Given the description of an element on the screen output the (x, y) to click on. 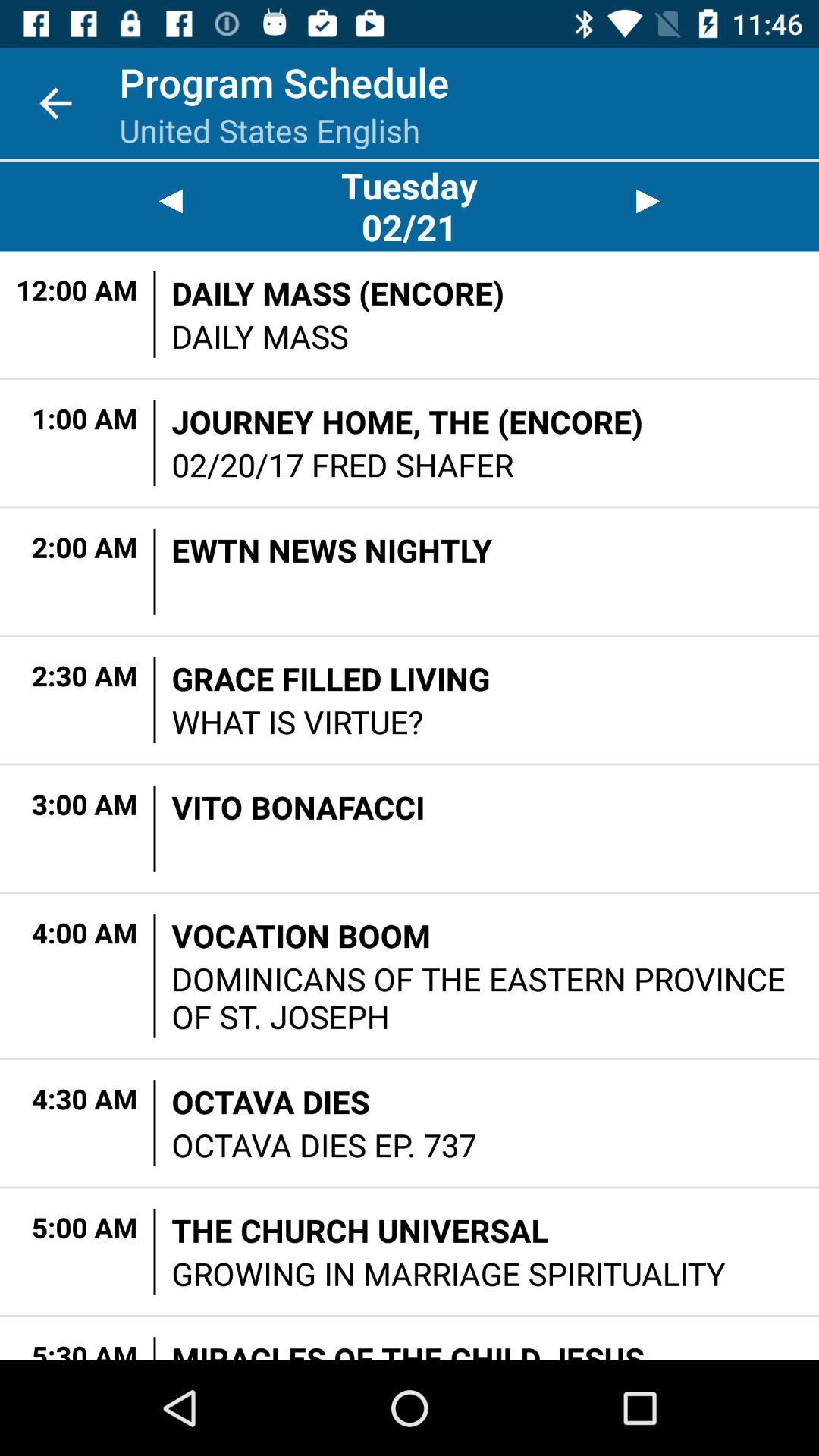
press the icon to the right of 12:00 am (154, 314)
